Given the description of an element on the screen output the (x, y) to click on. 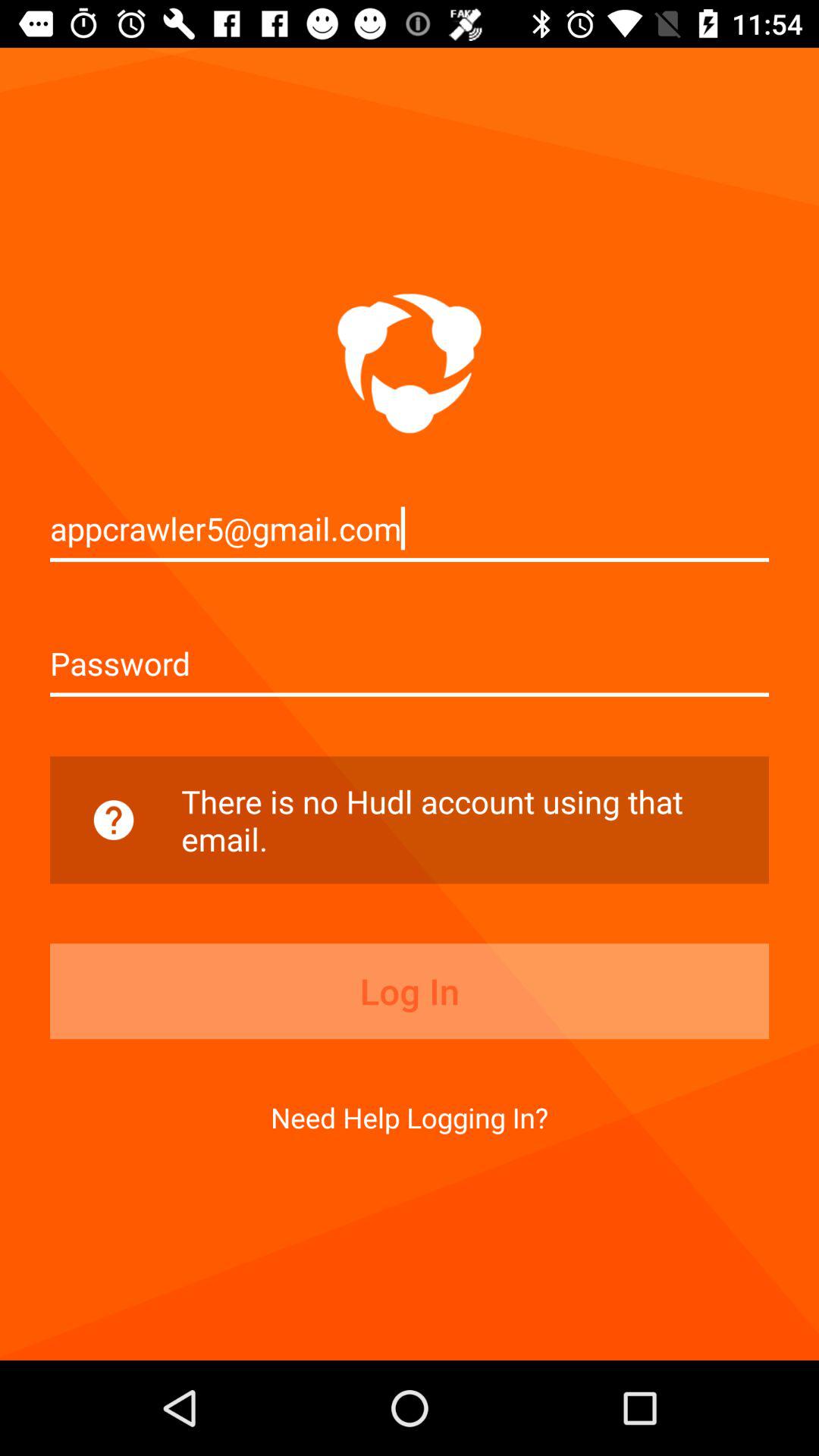
swipe until the appcrawler5@gmail.com item (409, 527)
